Given the description of an element on the screen output the (x, y) to click on. 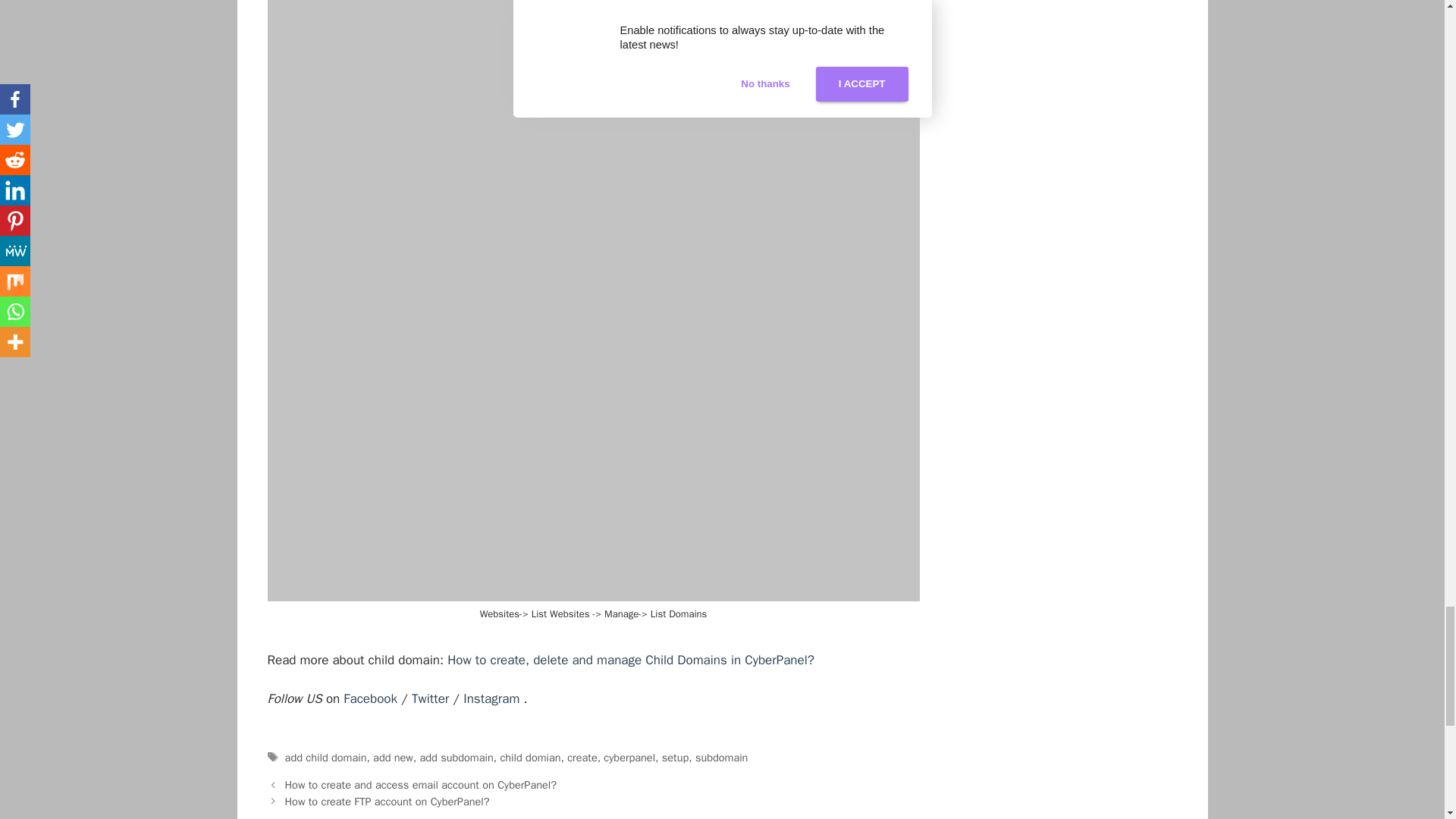
Twitter  (432, 698)
Instagram  (492, 698)
add subdomain (456, 757)
Facebook (370, 698)
create (581, 757)
add child domain (325, 757)
How to create and access email account on CyberPanel? (420, 784)
setup (675, 757)
How to create FTP account on CyberPanel? (387, 801)
subdomain (721, 757)
add new (392, 757)
cyberpanel (629, 757)
child domian (529, 757)
